Given the description of an element on the screen output the (x, y) to click on. 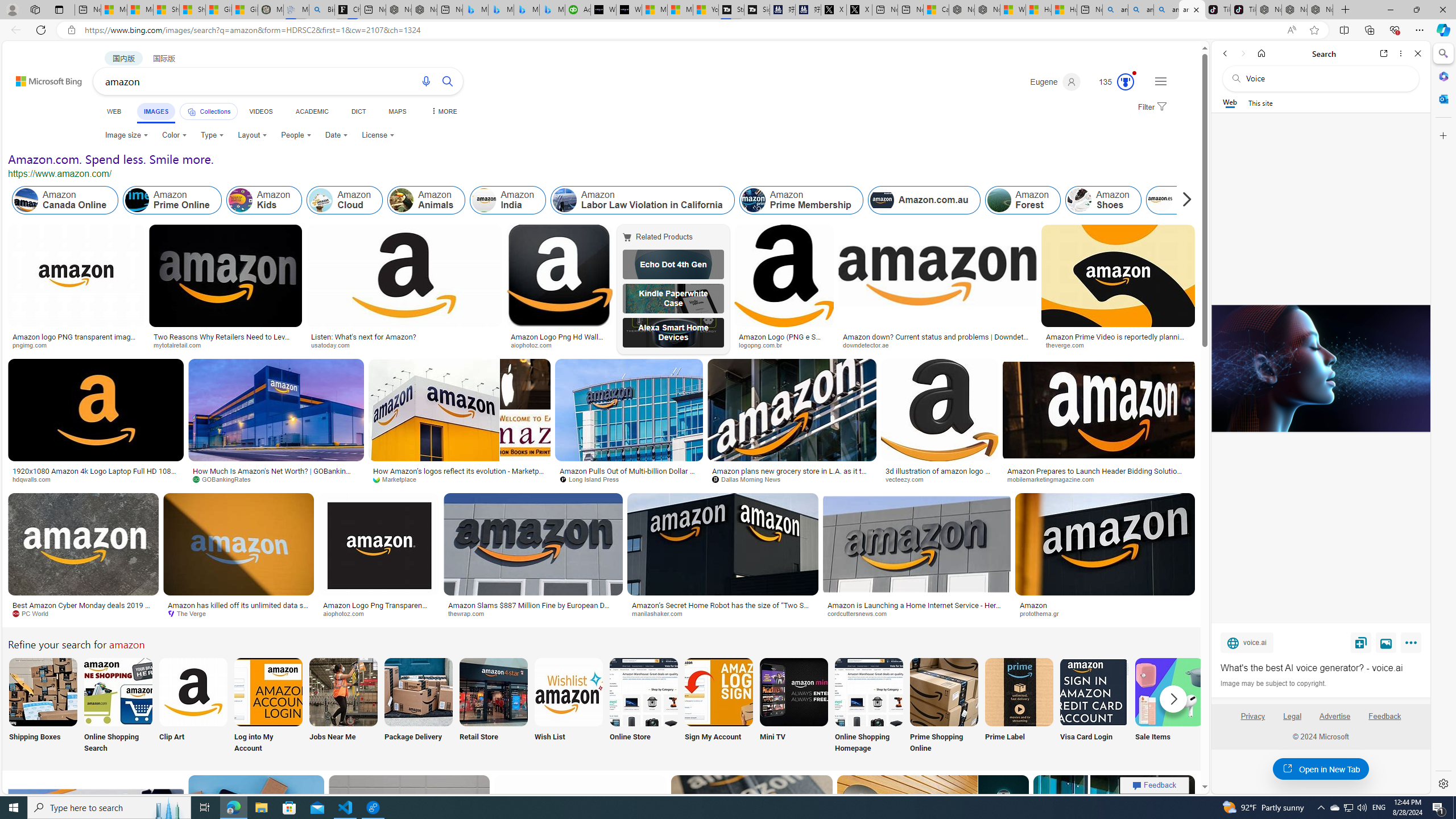
Amazon Prime Label (1018, 691)
Filter (1150, 107)
MORE (443, 111)
The Verge (190, 612)
downdetector.ae (937, 344)
Kindle Paperwhite Case (673, 298)
Amazon Online Shopping Homepage (868, 691)
Listen: What's next for Amazon? (403, 336)
Amazon Package Delivery Package Delivery (418, 706)
Amazon Clip Art Clip Art (192, 706)
Amazon Animals (426, 199)
